Given the description of an element on the screen output the (x, y) to click on. 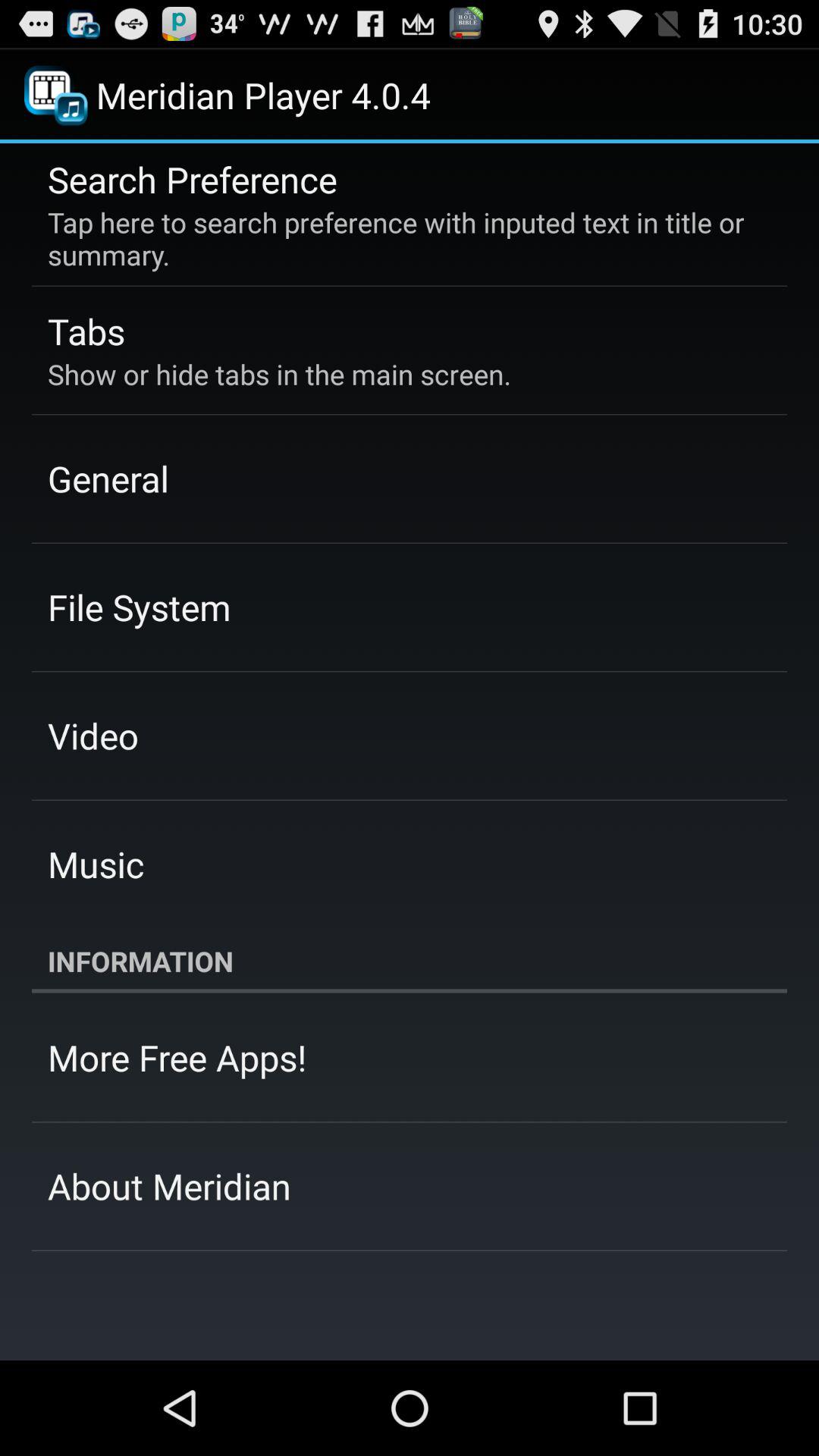
scroll until the more free apps! app (176, 1057)
